Given the description of an element on the screen output the (x, y) to click on. 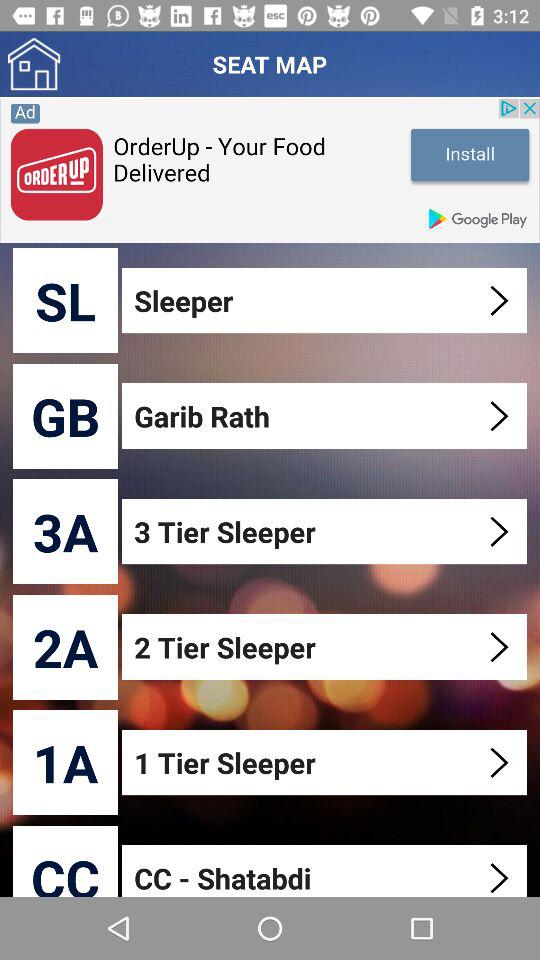
choose the icon to the left of 1 tier sleeper item (65, 762)
